Given the description of an element on the screen output the (x, y) to click on. 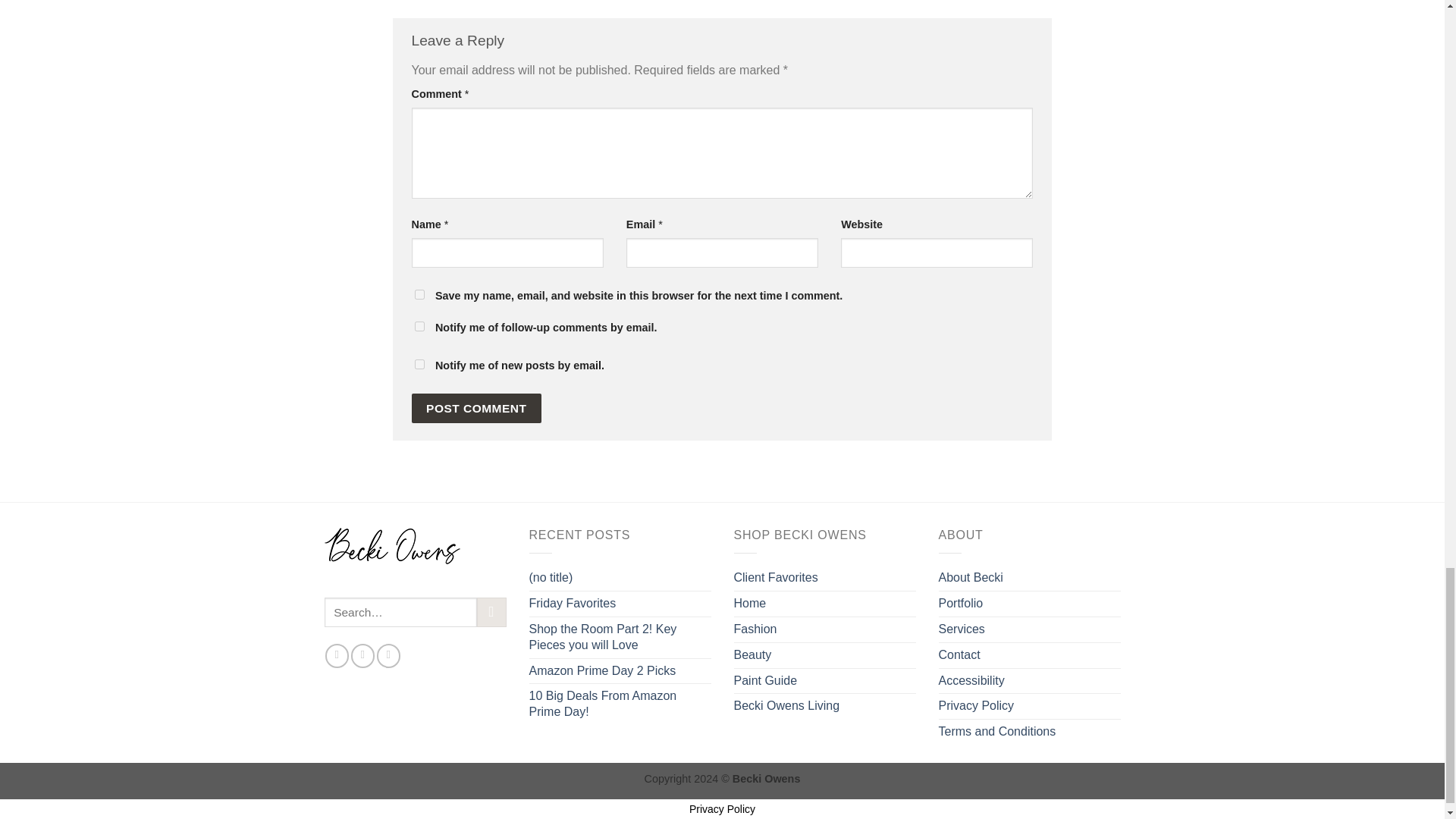
Post Comment (475, 408)
subscribe (418, 326)
yes (418, 294)
subscribe (418, 364)
